Given the description of an element on the screen output the (x, y) to click on. 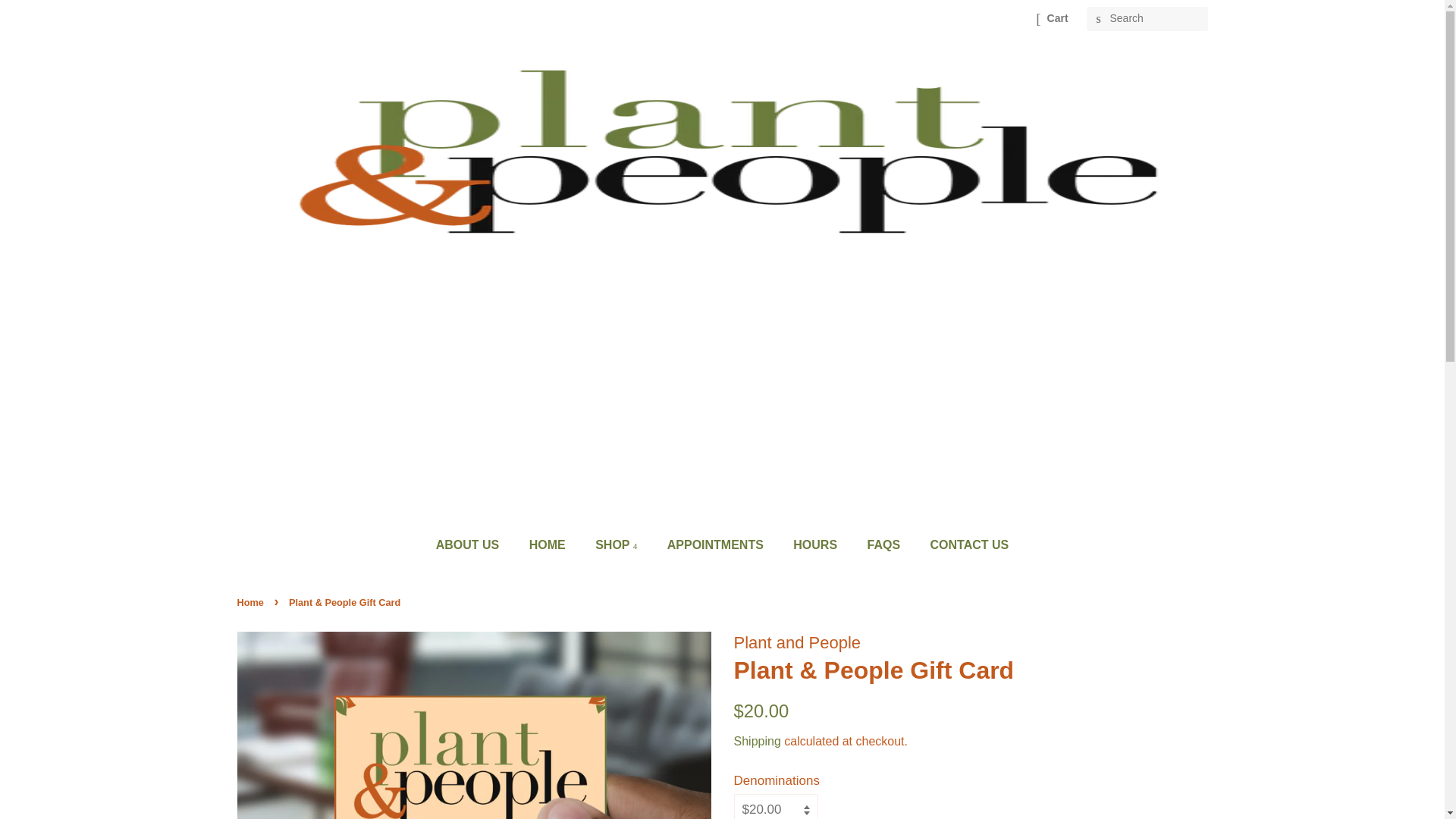
SEARCH (1097, 18)
ABOUT US (475, 544)
HOME (549, 544)
SHOP (617, 544)
Back to the frontpage (250, 602)
Cart (1057, 18)
